Given the description of an element on the screen output the (x, y) to click on. 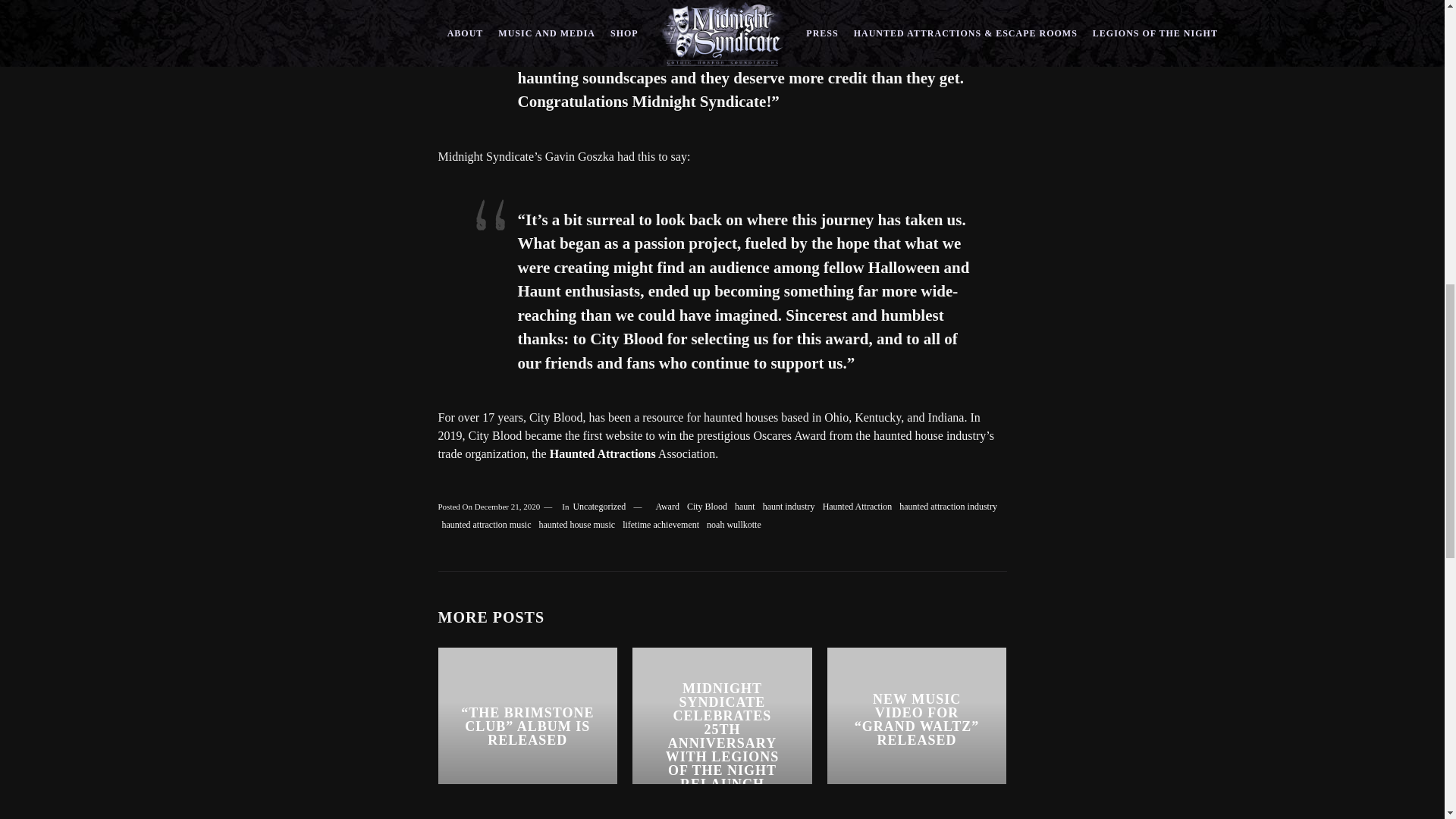
Back to the top (1412, 117)
